Given the description of an element on the screen output the (x, y) to click on. 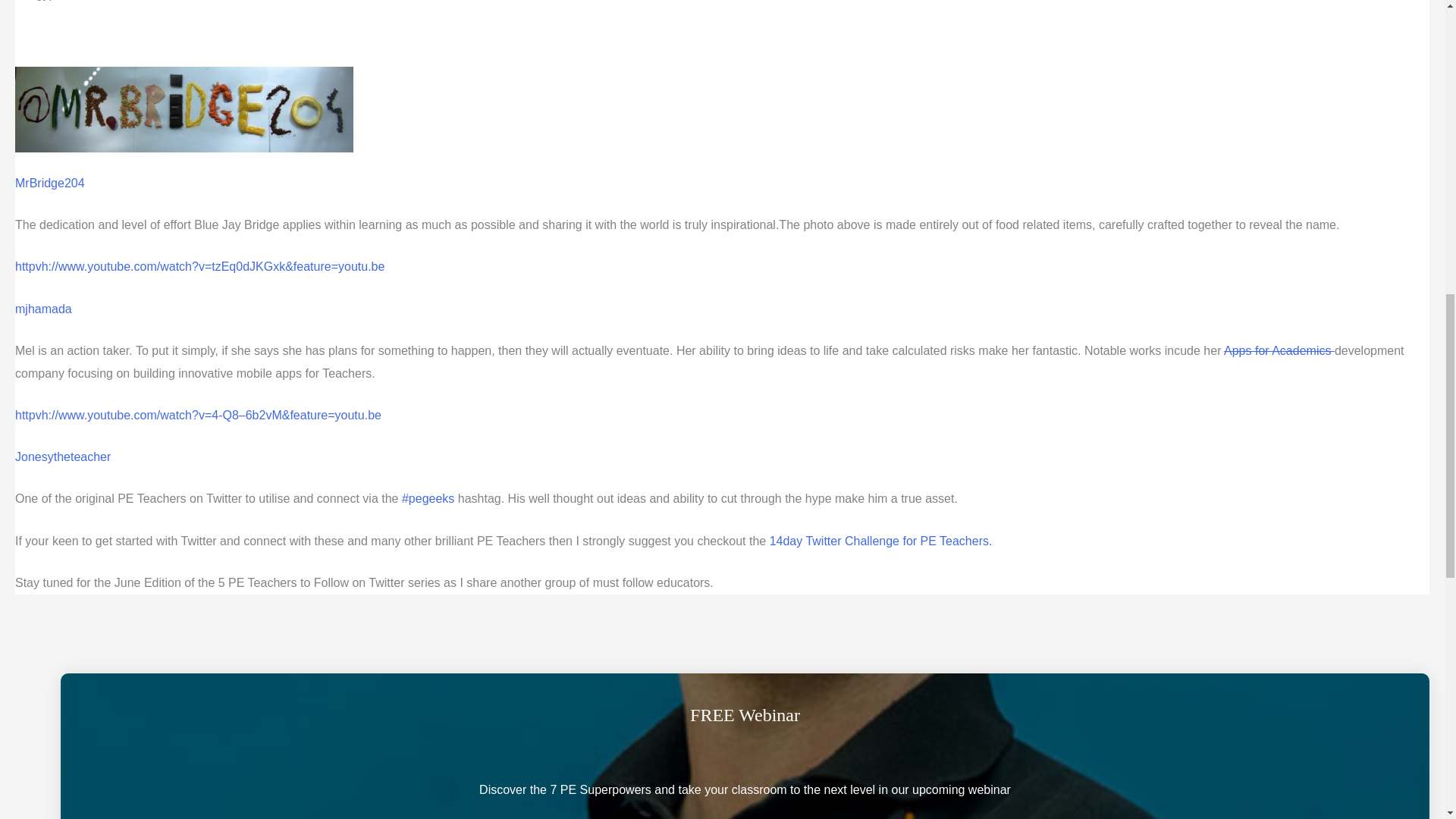
mjhamada (42, 308)
MrBridge204 (49, 182)
14day Twitter Challenge for PE Teachers. (881, 540)
Jonesytheteacher (62, 456)
Apps for Academics (1279, 350)
